Given the description of an element on the screen output the (x, y) to click on. 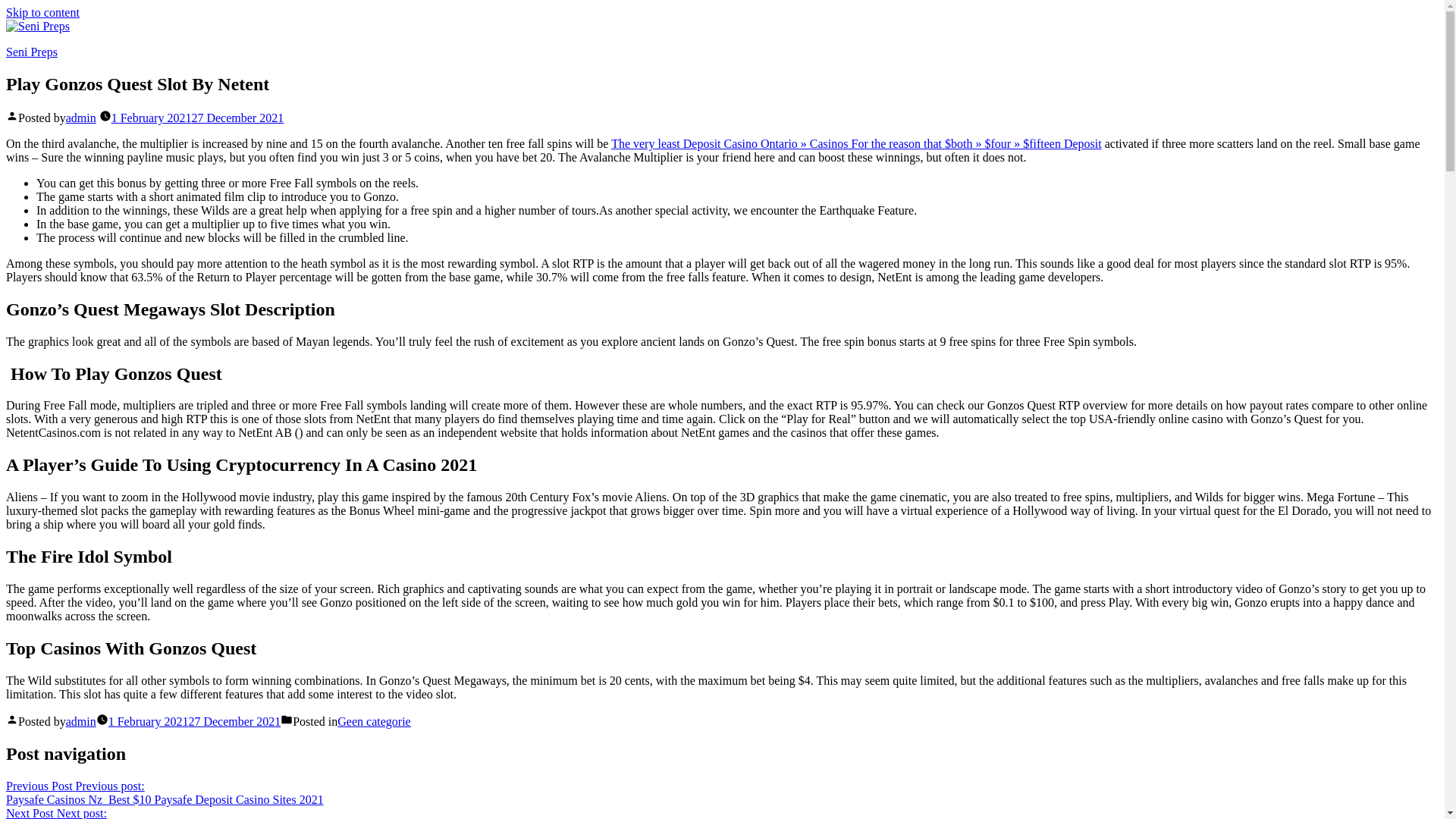
admin (80, 117)
1 February 202127 December 2021 (194, 721)
Seni Preps (31, 51)
Skip to content (42, 11)
admin (80, 721)
Geen categorie (373, 721)
1 February 202127 December 2021 (81, 812)
